Given the description of an element on the screen output the (x, y) to click on. 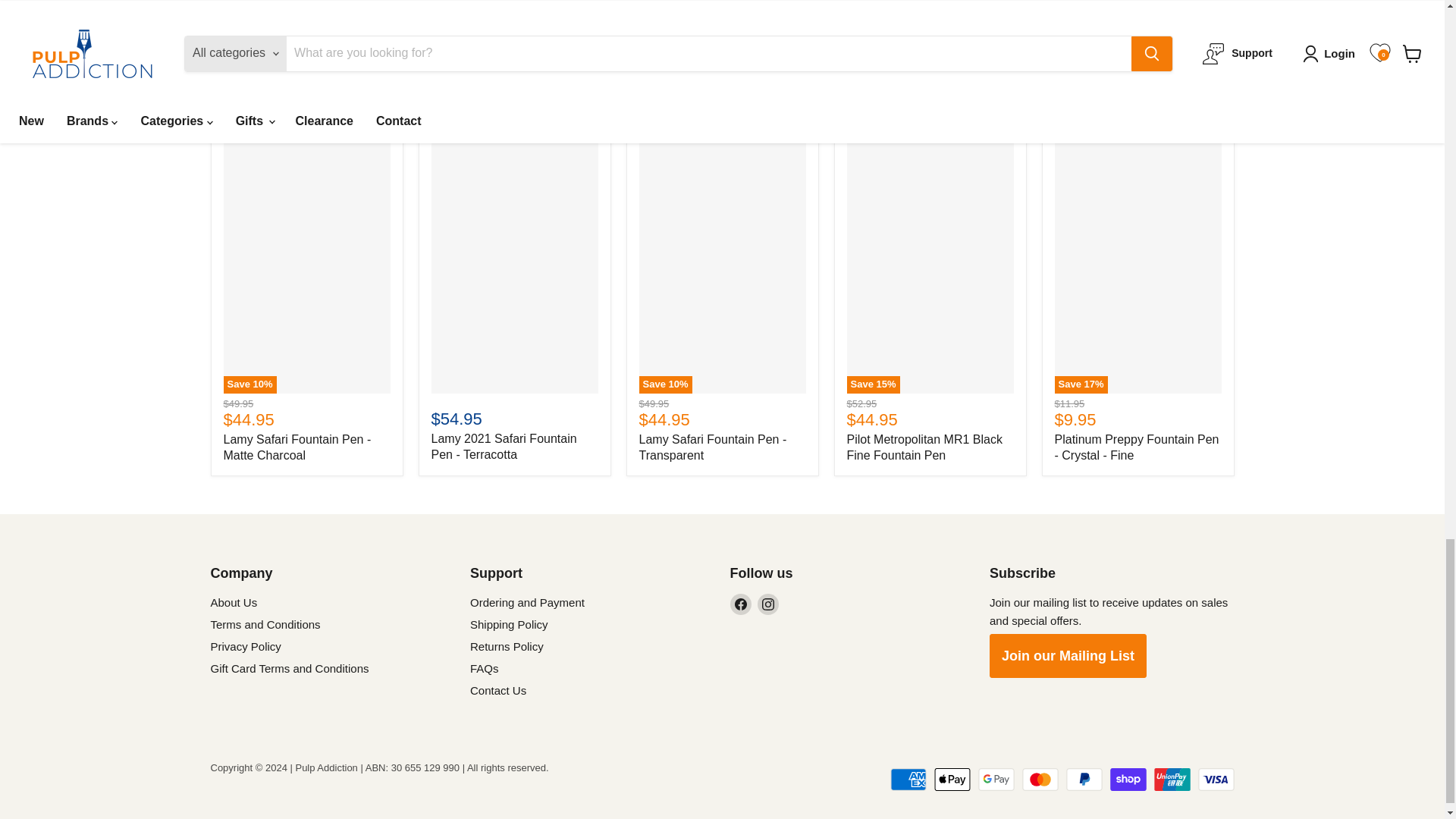
Instagram (767, 604)
Facebook (740, 604)
American Express (907, 779)
